Given the description of an element on the screen output the (x, y) to click on. 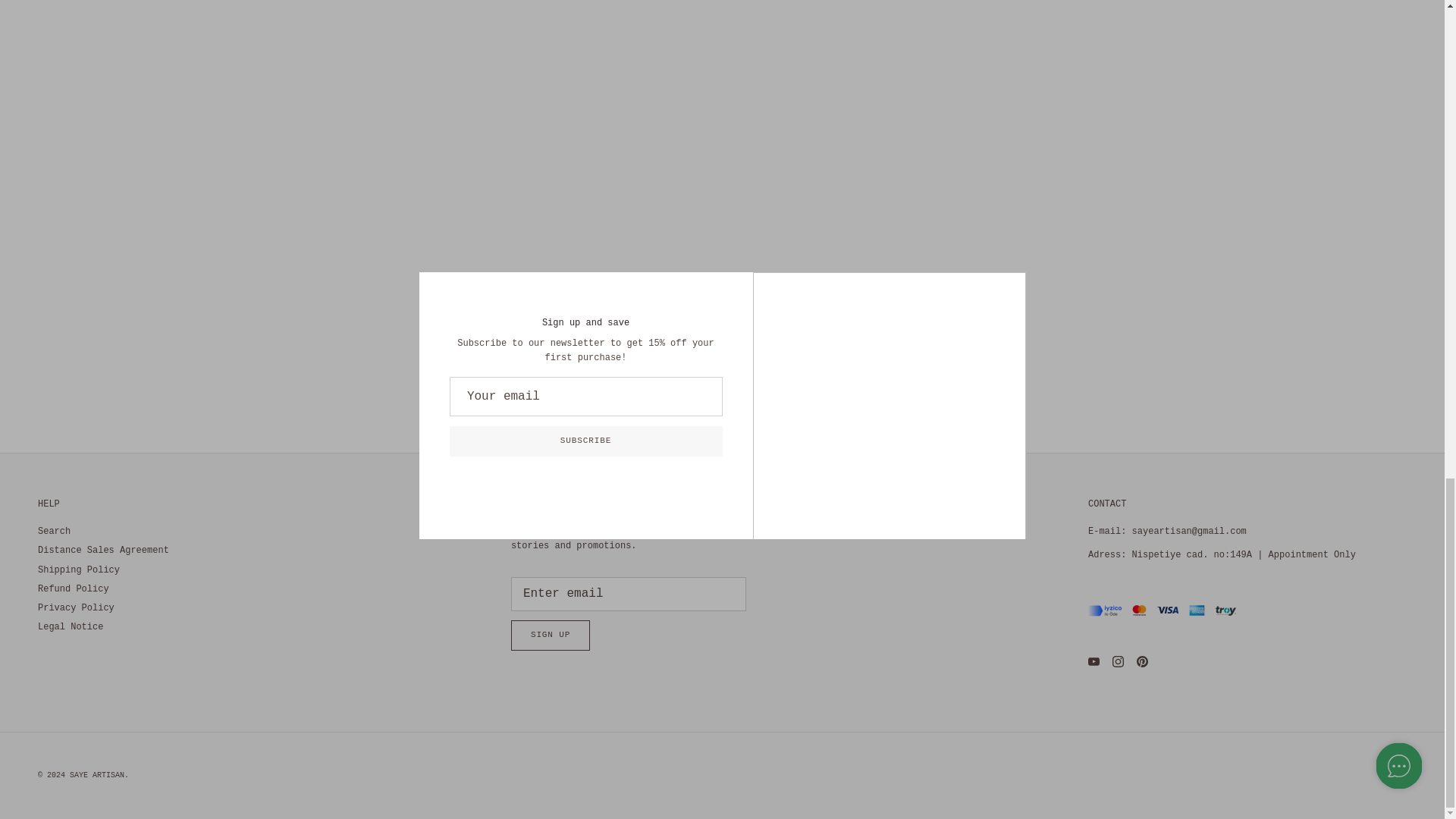
Pinterest (1142, 661)
Instagram (1118, 661)
Youtube (1093, 661)
